Given the description of an element on the screen output the (x, y) to click on. 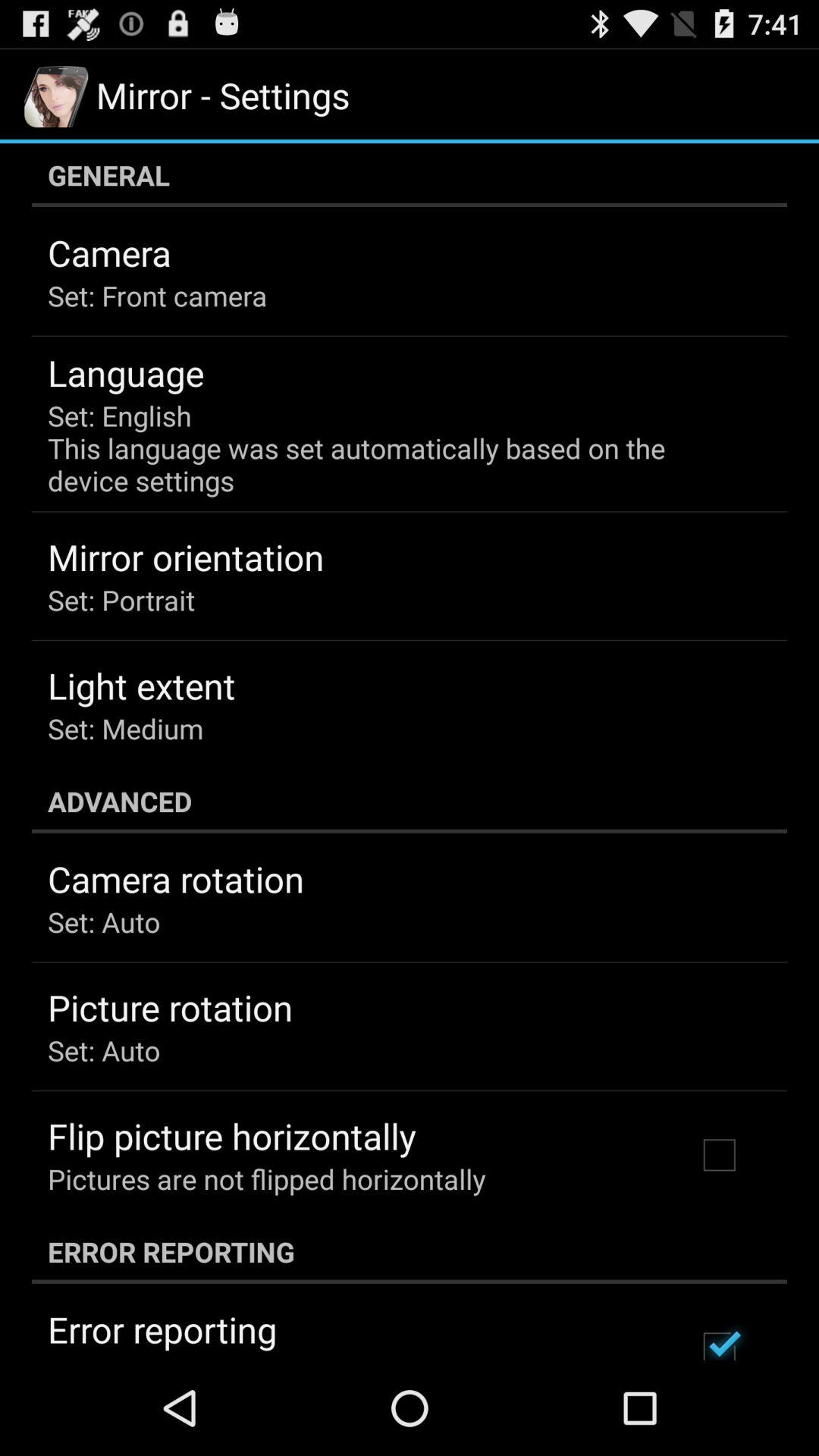
press the app above the pictures are not item (231, 1135)
